Given the description of an element on the screen output the (x, y) to click on. 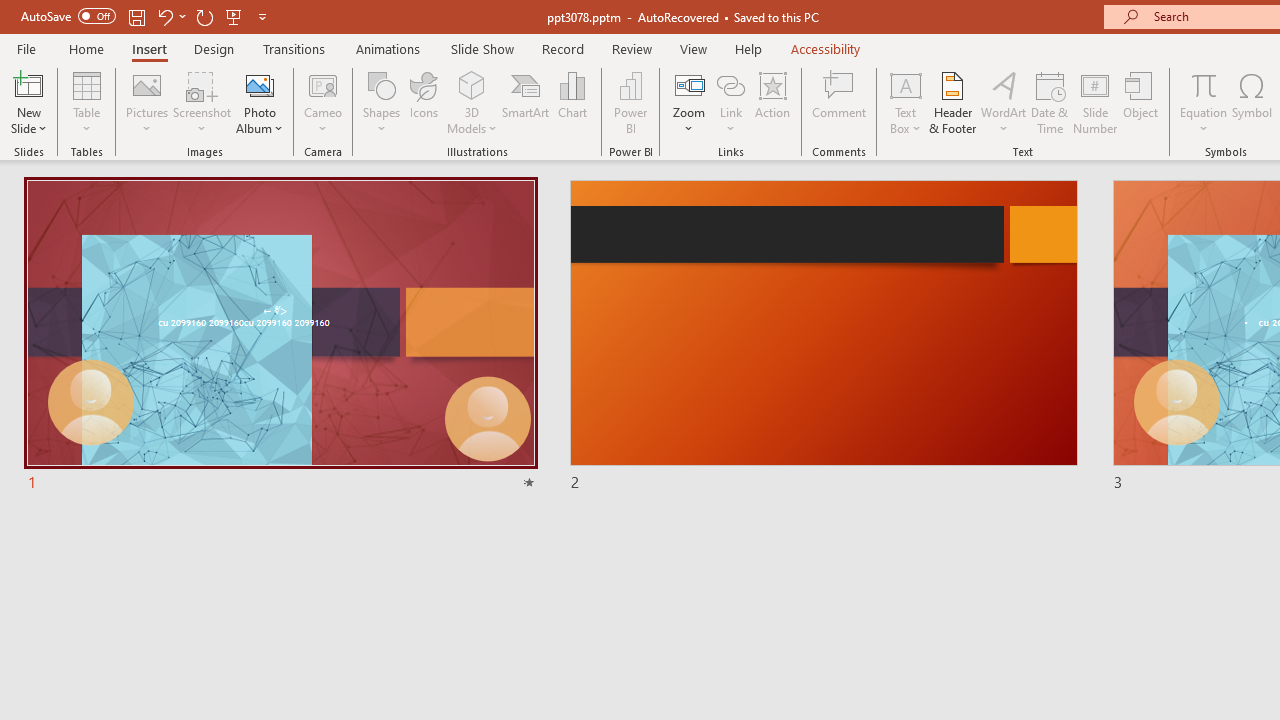
Draw Horizontal Text Box (905, 84)
WordArt (1004, 102)
Slide Number (1095, 102)
Comment (839, 102)
Chart... (572, 102)
